Given the description of an element on the screen output the (x, y) to click on. 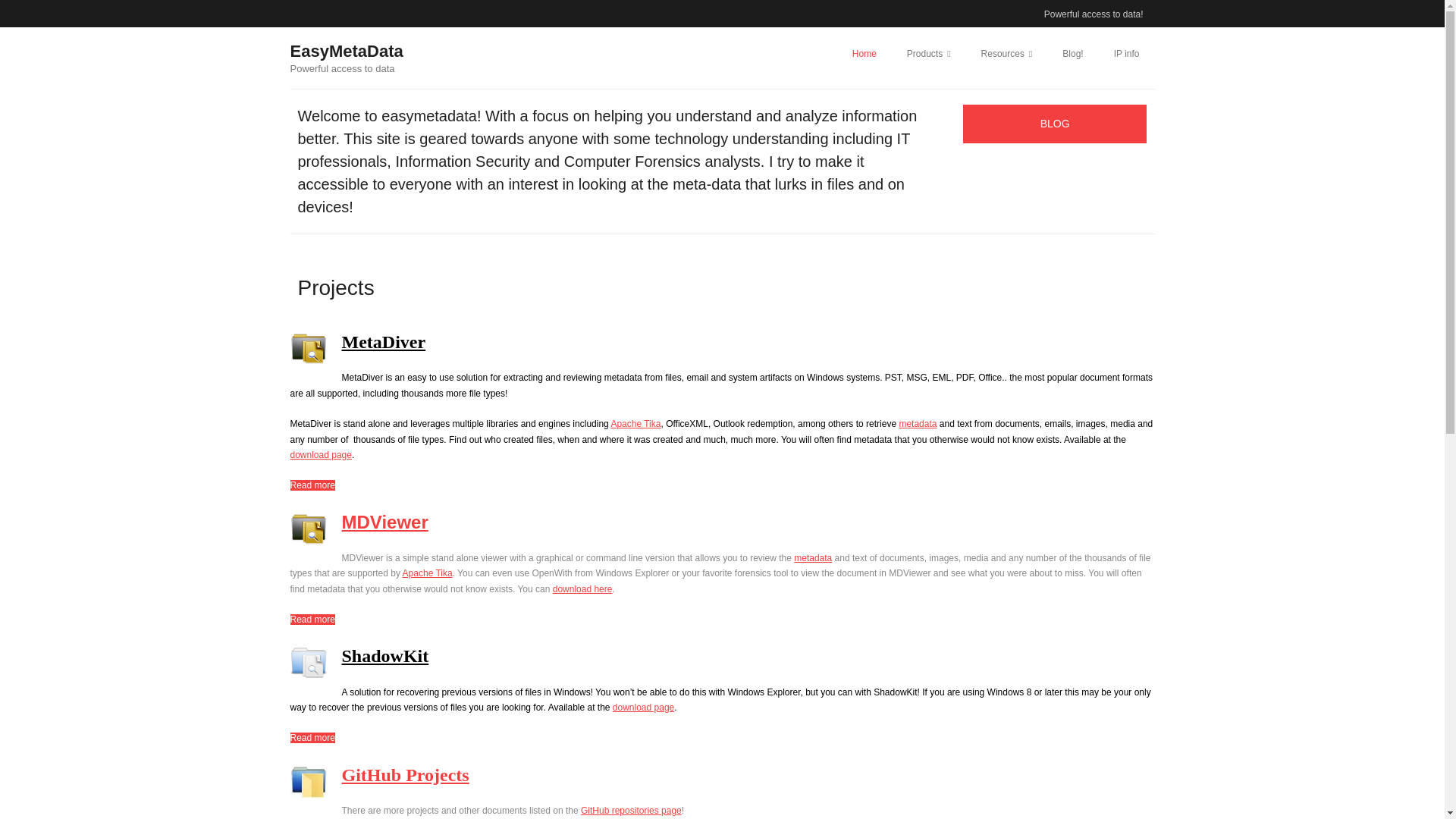
Powerful access to data (346, 68)
Products (928, 53)
Apache Tika (427, 573)
Home (864, 53)
MDViewer (384, 521)
MetaDiver (382, 342)
Blog! (1071, 53)
Apache Tika (635, 423)
Resources (1007, 53)
download page (319, 454)
